Given the description of an element on the screen output the (x, y) to click on. 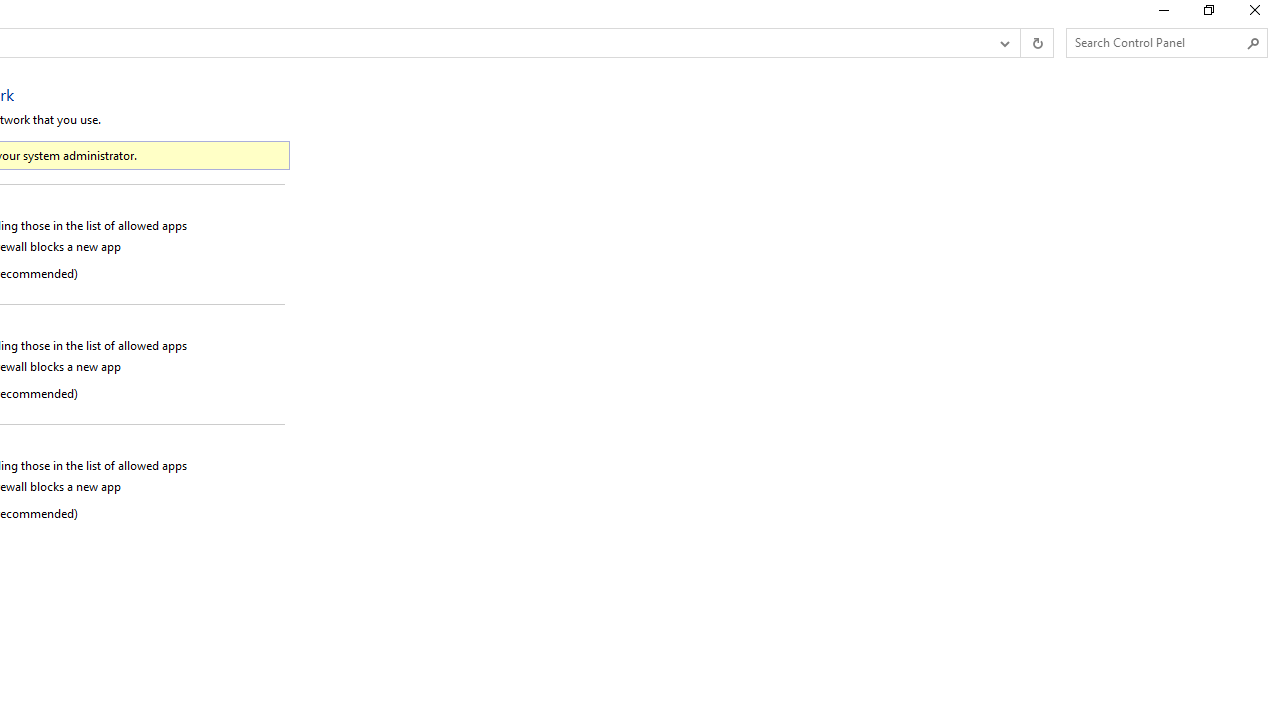
Restore (1208, 14)
Refresh "Customize Settings" (F5) (1036, 43)
Address band toolbar (1019, 43)
Minimize (1162, 14)
Search Box (1156, 42)
Search (1253, 43)
Previous Locations (1003, 43)
